Given the description of an element on the screen output the (x, y) to click on. 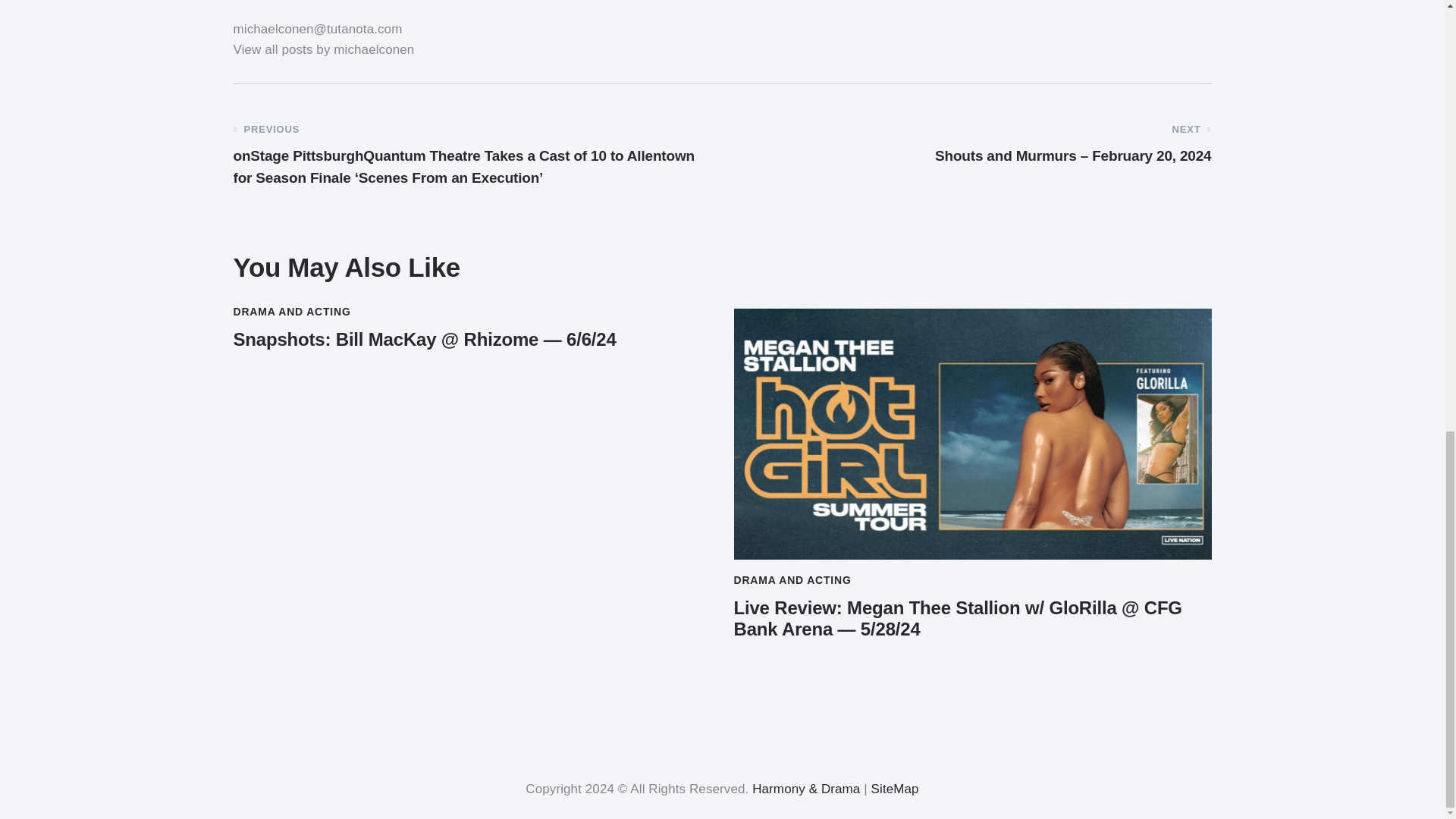
DRAMA AND ACTING (291, 311)
DRAMA AND ACTING (792, 580)
SiteMap (894, 789)
